Given the description of an element on the screen output the (x, y) to click on. 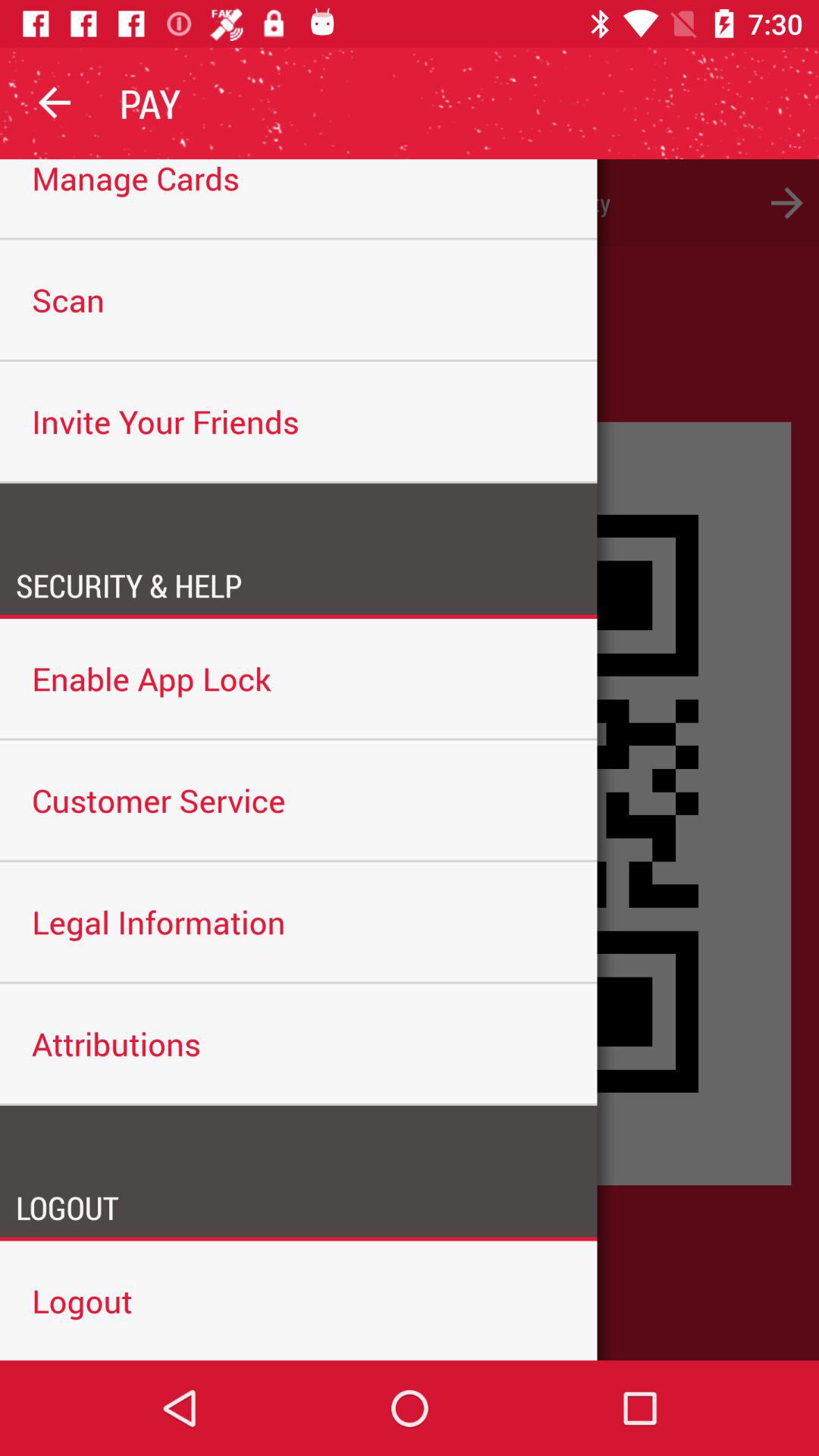
jump until the attributions item (298, 1043)
